Given the description of an element on the screen output the (x, y) to click on. 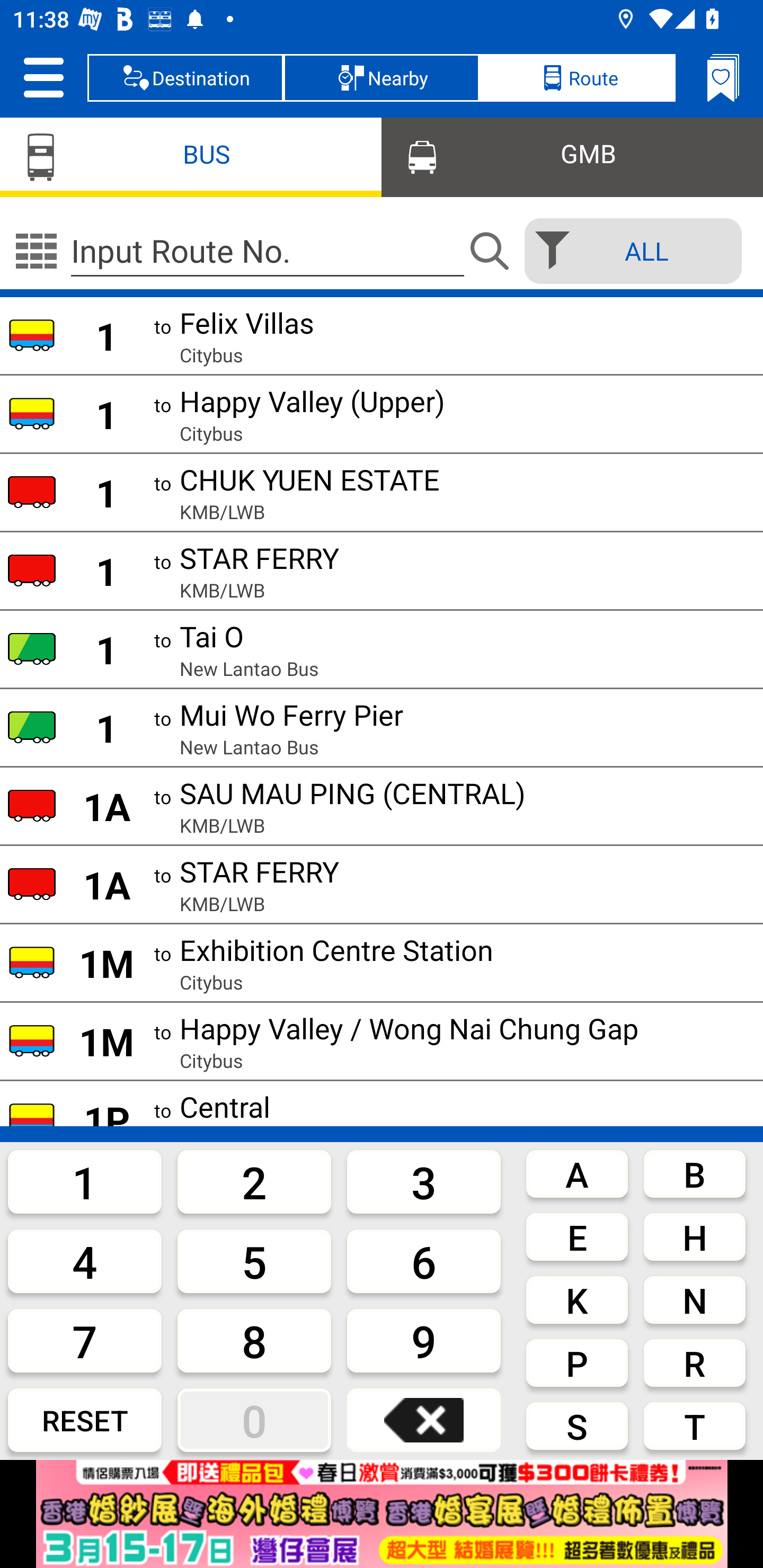
Destination (185, 77)
Nearby (381, 77)
Route, selected (577, 77)
Bookmarks (723, 77)
Setting (43, 77)
BUS, selected (190, 155)
GMB (572, 155)
selected ALL (627, 250)
no (36, 250)
1 (84, 1181)
2 (254, 1181)
3 (423, 1181)
A (576, 1173)
B (694, 1173)
E (576, 1236)
H (694, 1236)
4 (84, 1261)
5 (254, 1261)
6 (423, 1261)
K (576, 1299)
N (694, 1299)
7 (84, 1340)
8 (254, 1340)
9 (423, 1340)
P (576, 1362)
R (694, 1362)
RESET (84, 1419)
0 (254, 1419)
S (576, 1425)
T (694, 1425)
index (381, 1513)
